Given the description of an element on the screen output the (x, y) to click on. 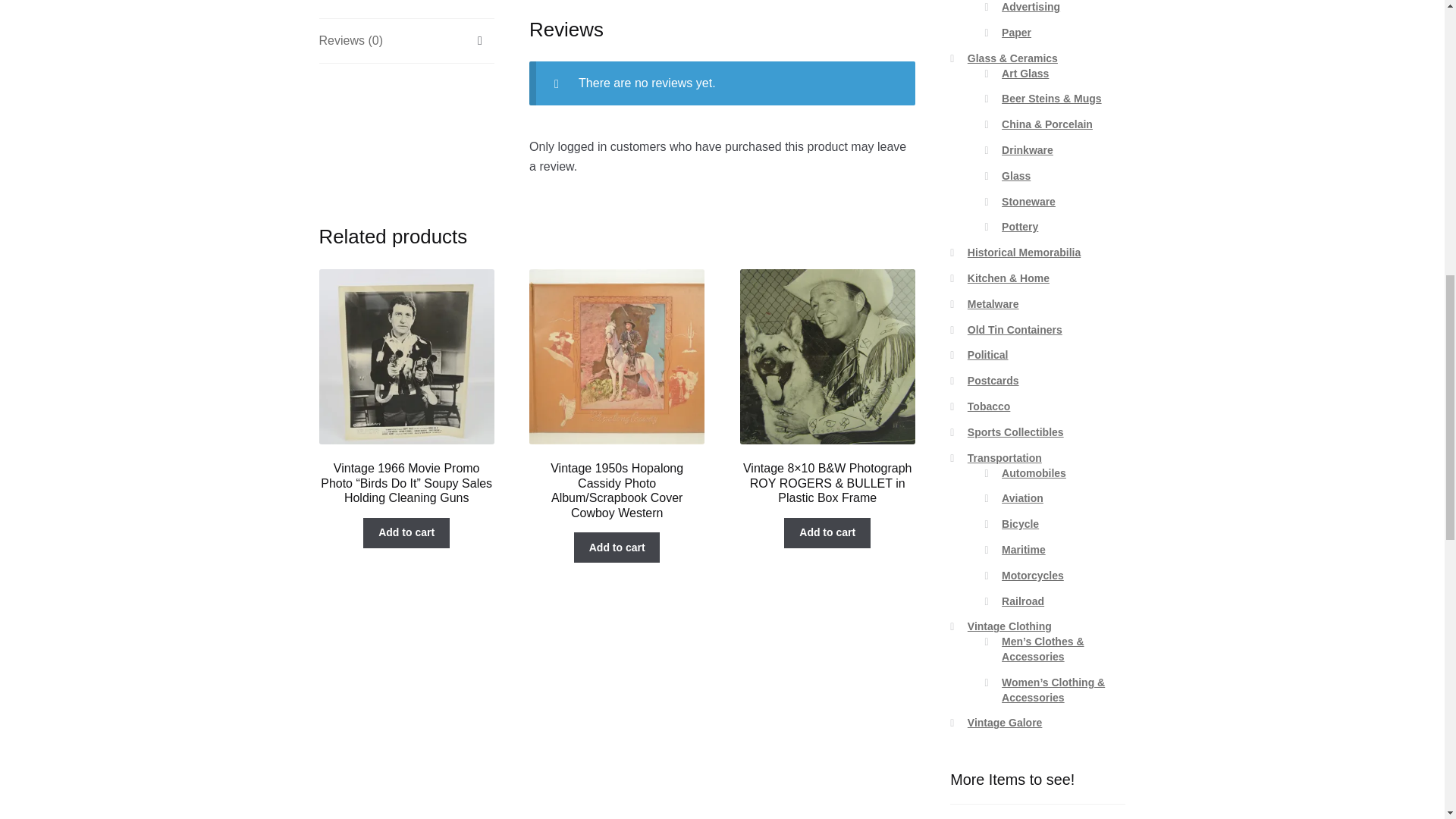
Add to cart (617, 547)
Add to cart (405, 532)
Add to cart (827, 532)
